Given the description of an element on the screen output the (x, y) to click on. 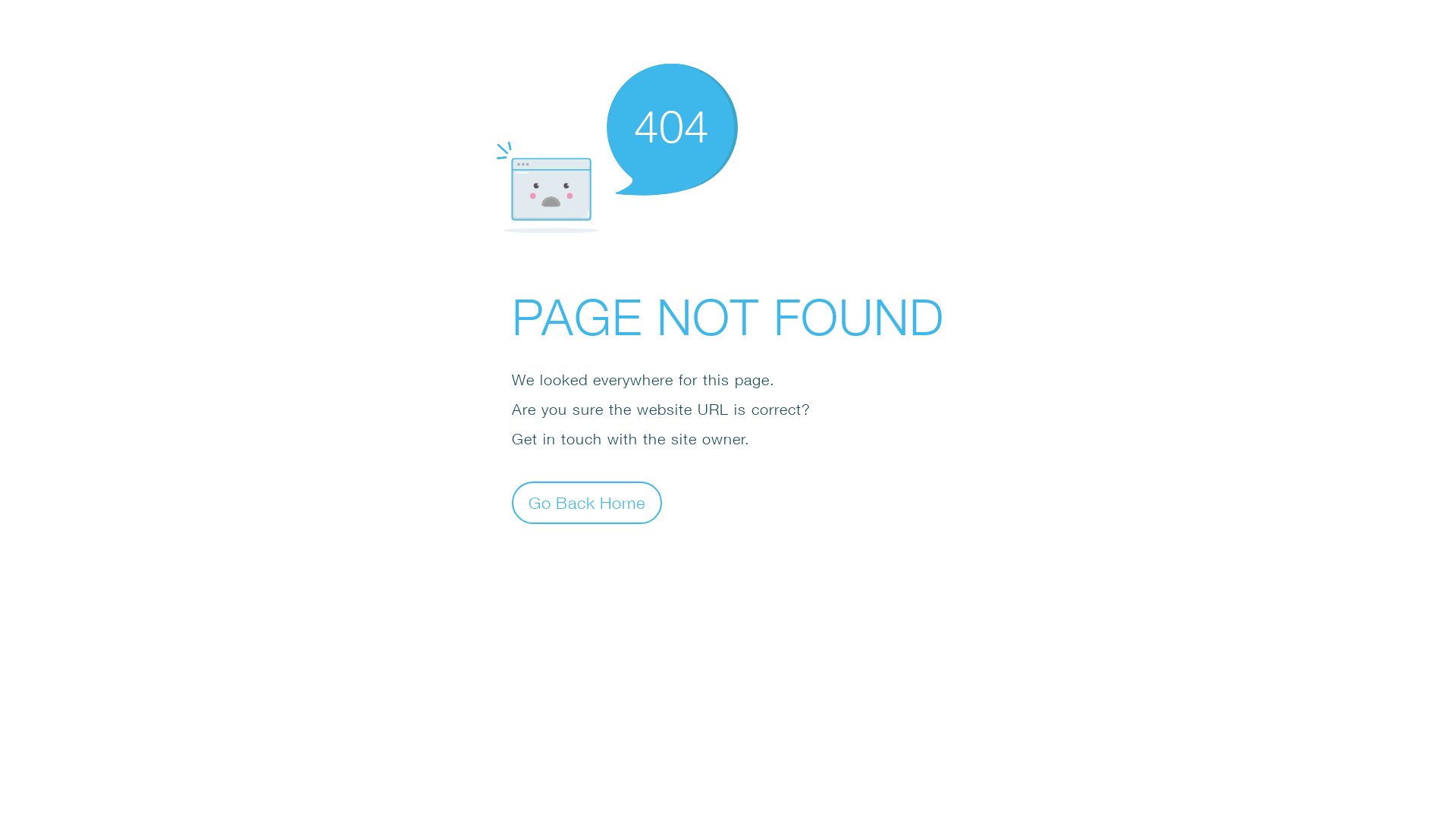
Go Back Home Element type: text (586, 502)
